Given the description of an element on the screen output the (x, y) to click on. 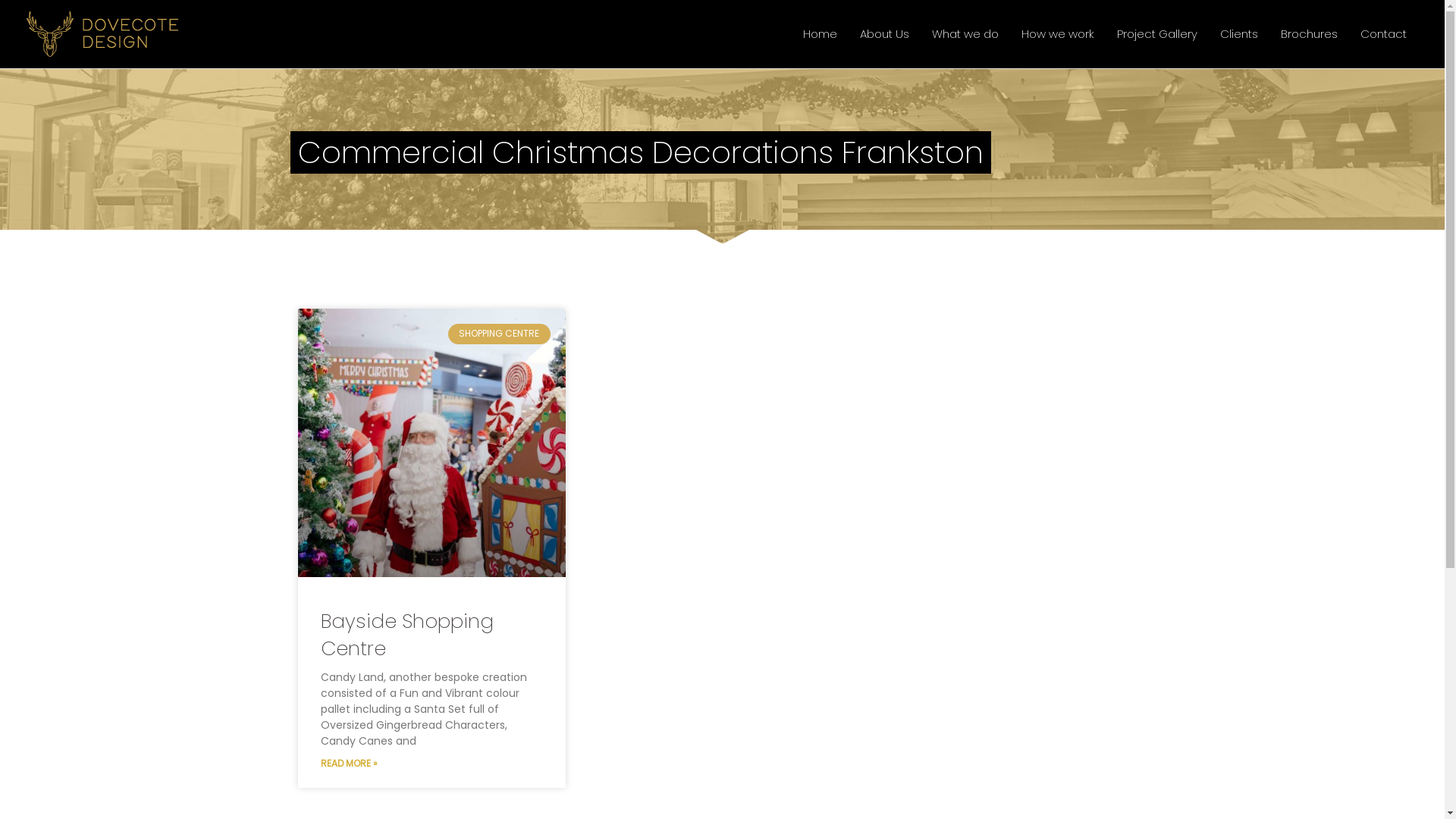
Project Gallery Element type: text (1156, 34)
How we work Element type: text (1057, 34)
Bayside Shopping Centre Element type: text (406, 634)
Home Element type: text (819, 34)
What we do Element type: text (965, 34)
Clients Element type: text (1238, 34)
Brochures Element type: text (1309, 34)
About Us Element type: text (884, 34)
Contact Element type: text (1383, 34)
